Given the description of an element on the screen output the (x, y) to click on. 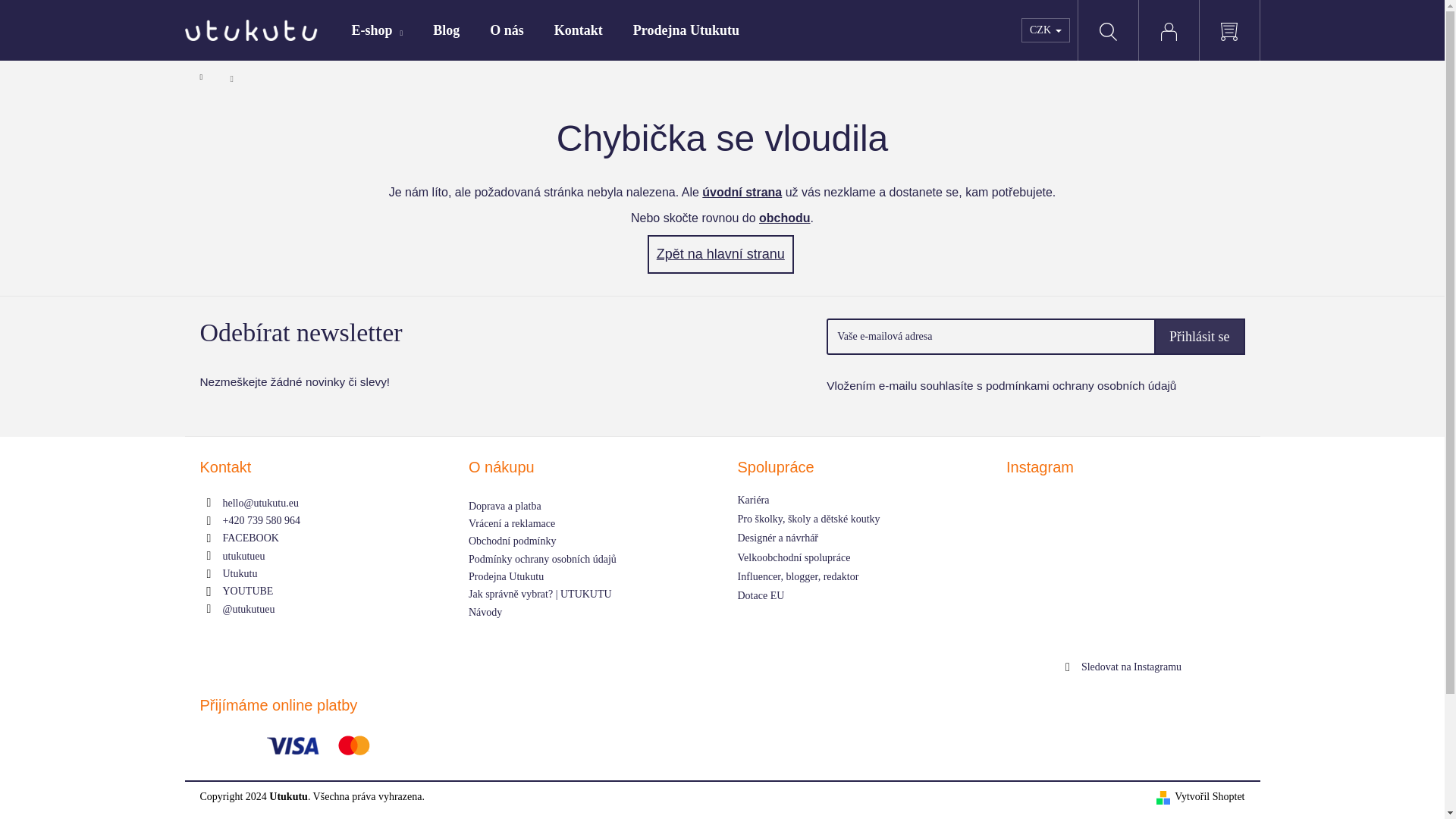
Telefon (260, 520)
Facebook (250, 537)
TikTok (248, 609)
Hledat (1107, 30)
Facebook Messenger (239, 573)
Blog (445, 30)
E-shop (377, 30)
YouTube (247, 591)
Instagram (243, 555)
obchodu (784, 217)
